Given the description of an element on the screen output the (x, y) to click on. 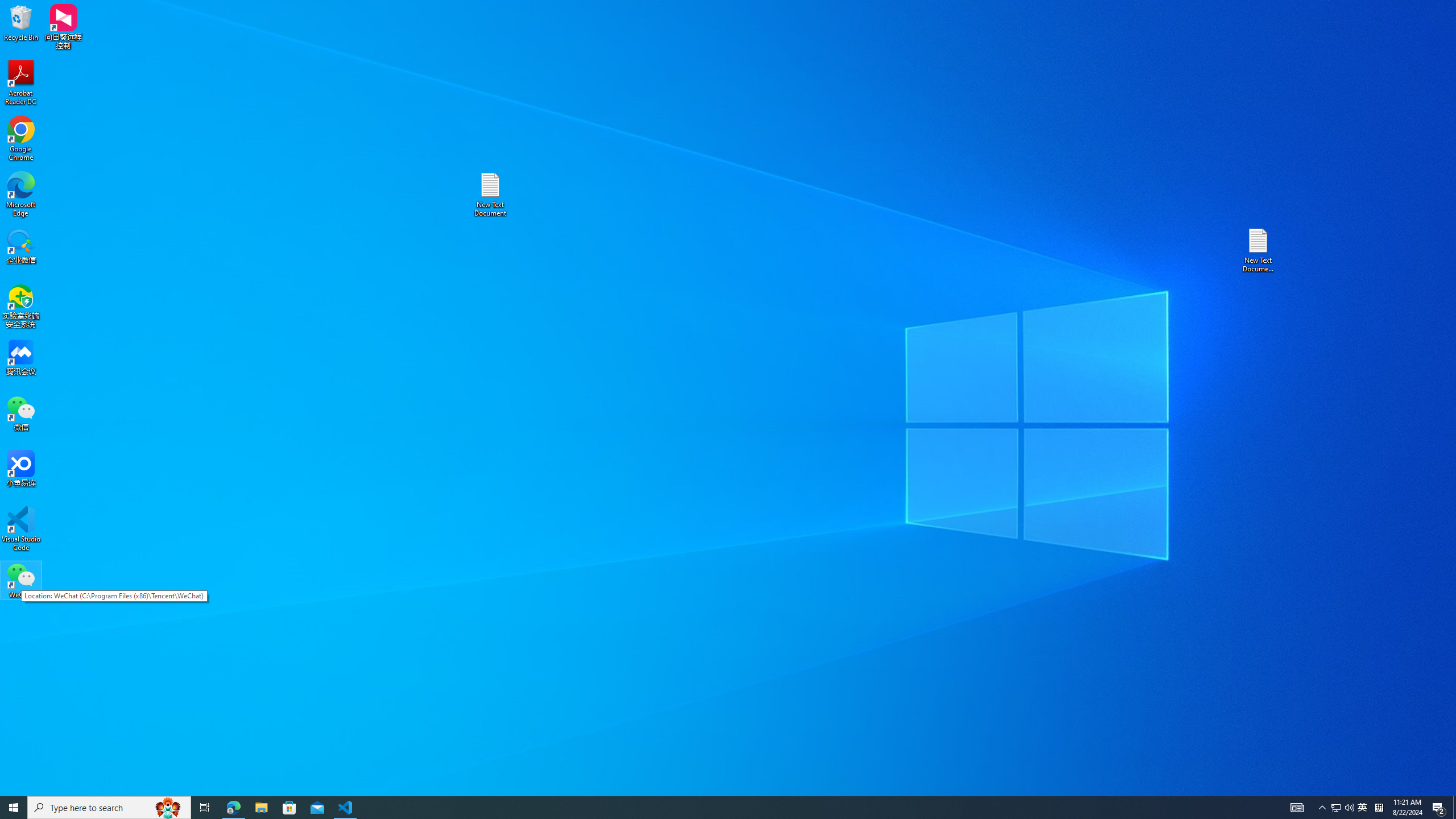
AutomationID: 4105 (1297, 807)
Acrobat Reader DC (21, 82)
Microsoft Store (289, 807)
Running applications (707, 807)
